Given the description of an element on the screen output the (x, y) to click on. 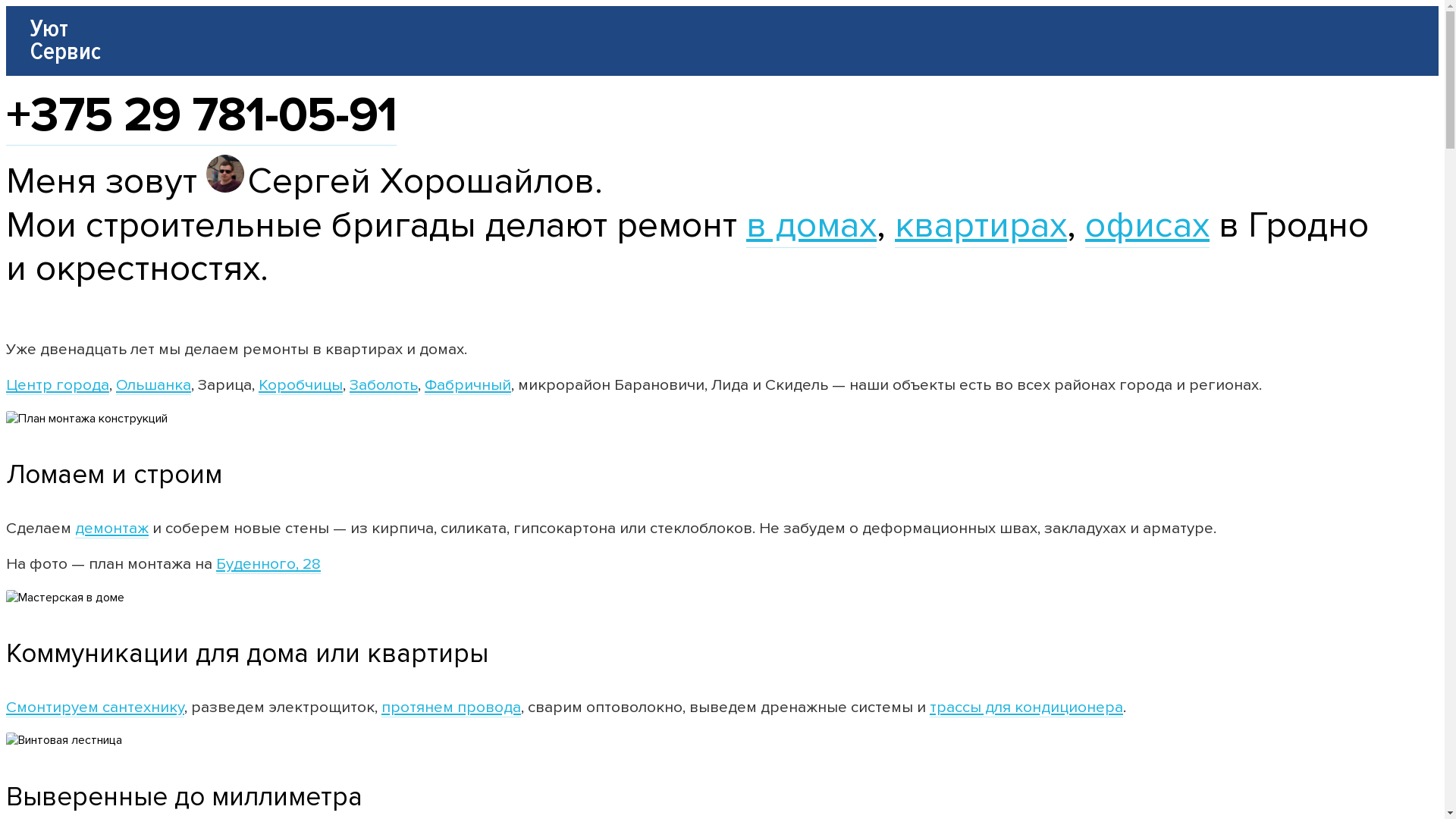
+375 29 781-05-91 Element type: text (201, 115)
